Given the description of an element on the screen output the (x, y) to click on. 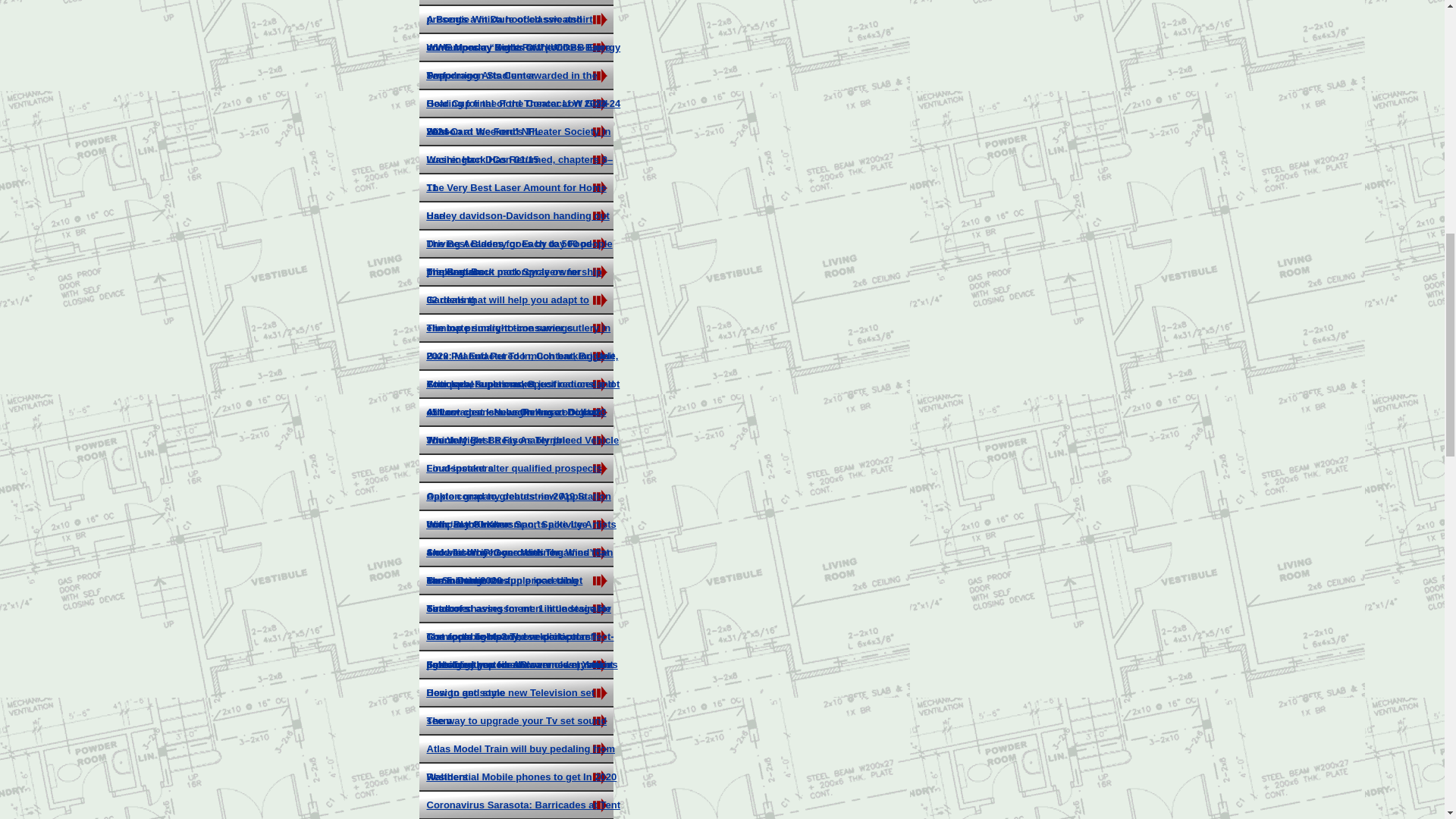
Wild-Card Weekend NFL (483, 131)
The Best Back pack Sprayers for Gardening (502, 285)
The Very Best Laser Amount for Home Use (515, 201)
The Best Blades for Each day Food preparation (508, 257)
